Given the description of an element on the screen output the (x, y) to click on. 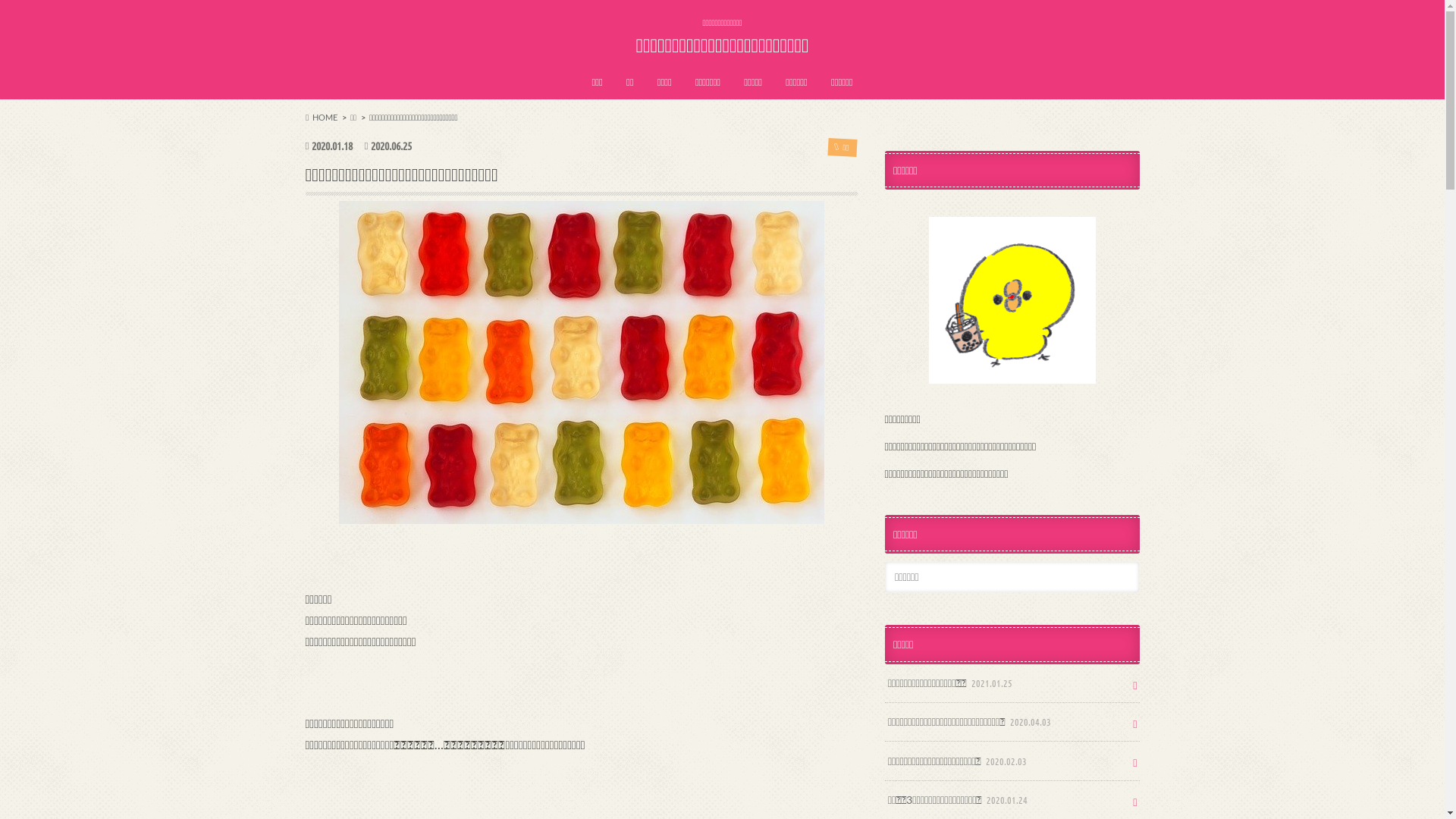
HOME Element type: text (320, 117)
